Given the description of an element on the screen output the (x, y) to click on. 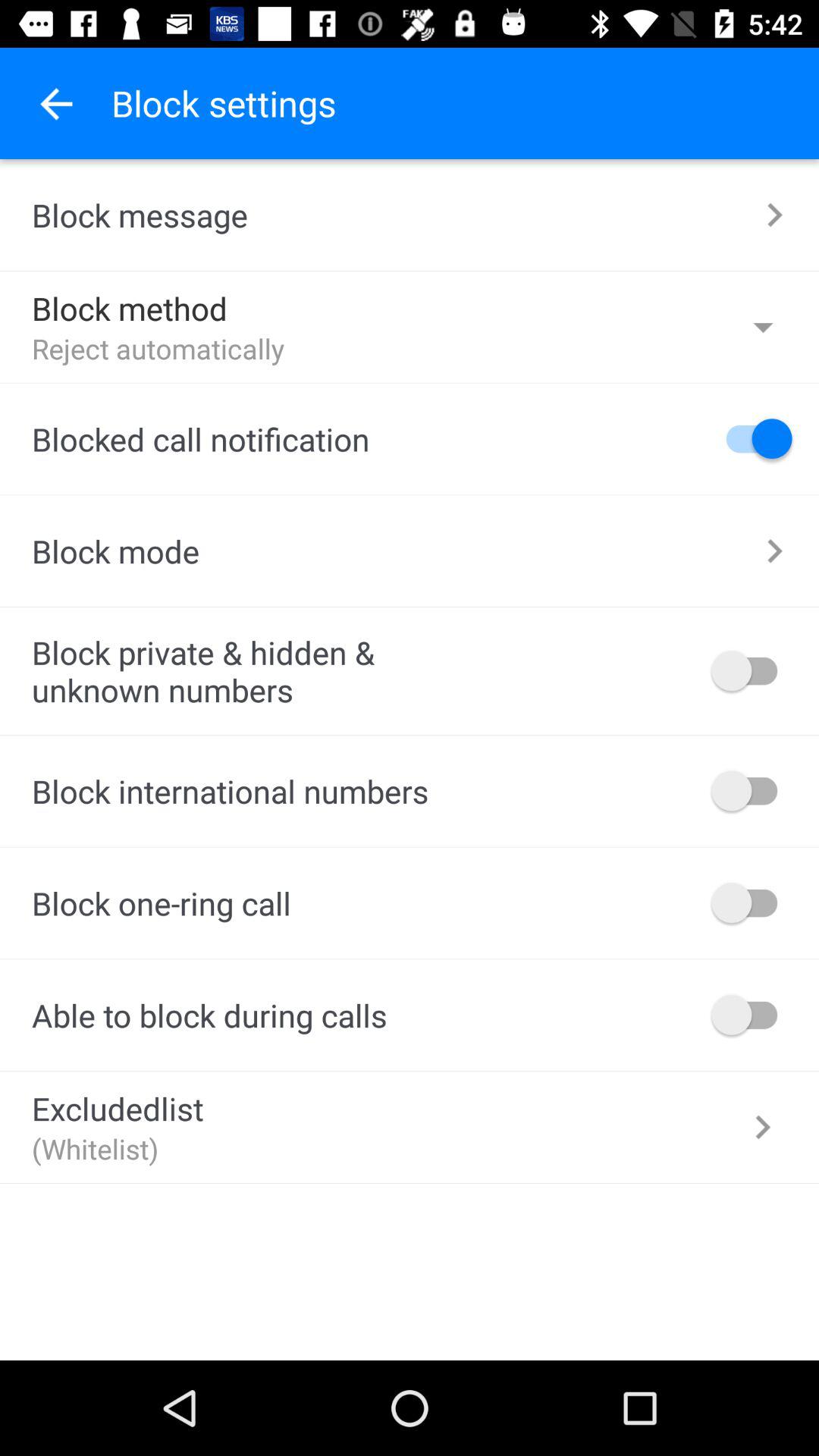
toggle block settings for international numbers (751, 790)
